Given the description of an element on the screen output the (x, y) to click on. 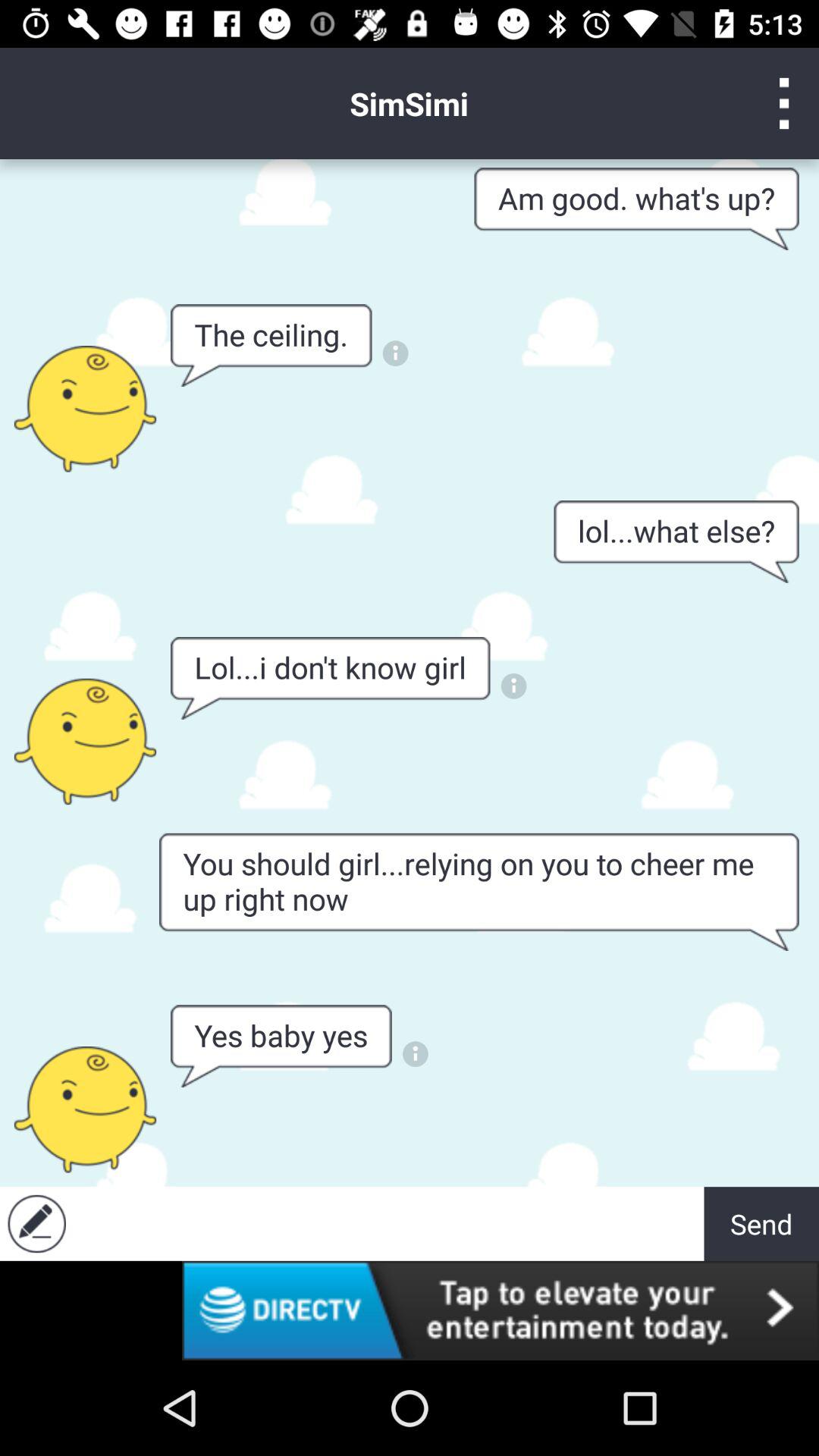
click to the more details (513, 686)
